Given the description of an element on the screen output the (x, y) to click on. 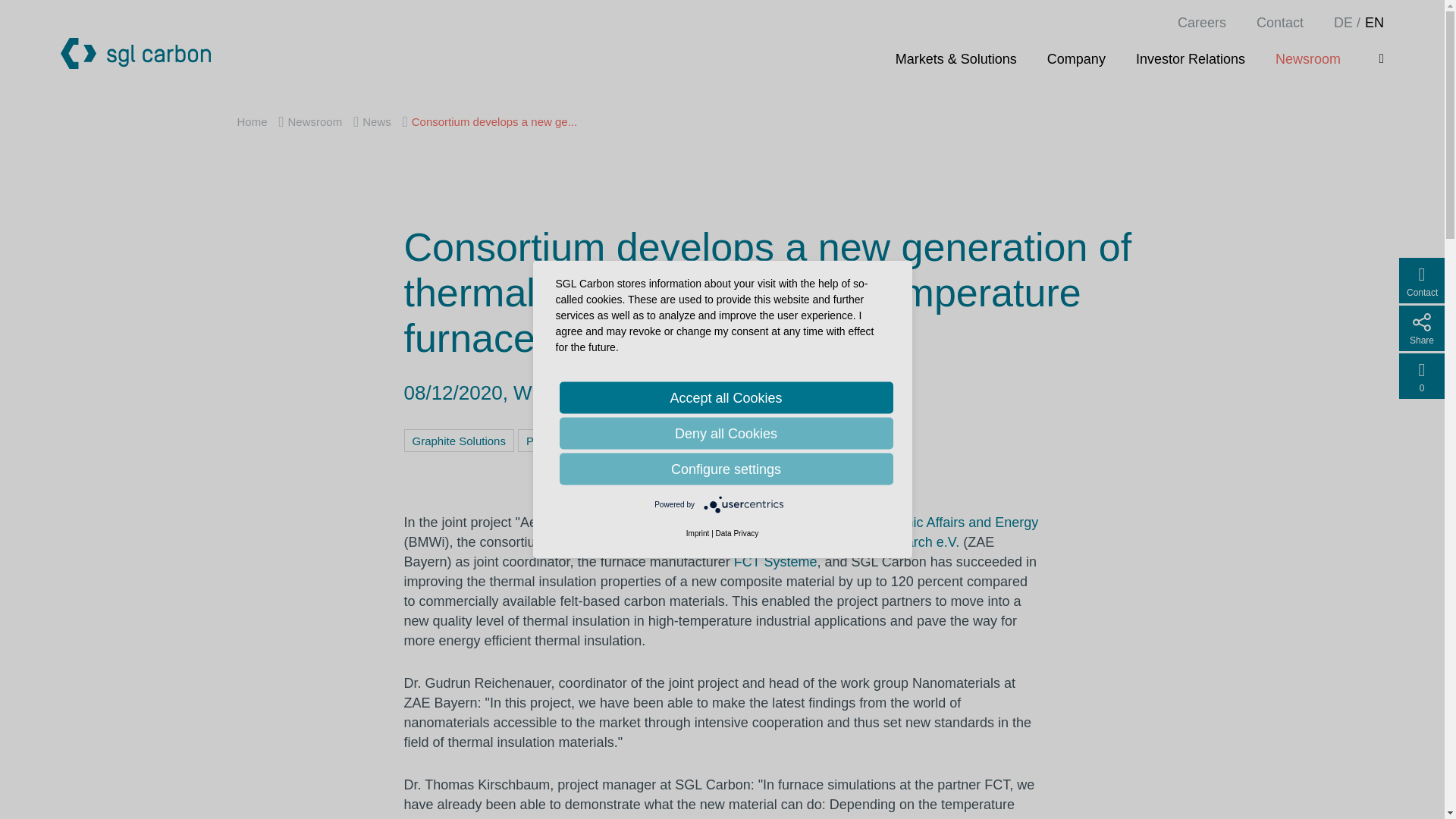
DE (1342, 22)
Careers (1201, 22)
Company (1075, 58)
Contact (1279, 22)
